Given the description of an element on the screen output the (x, y) to click on. 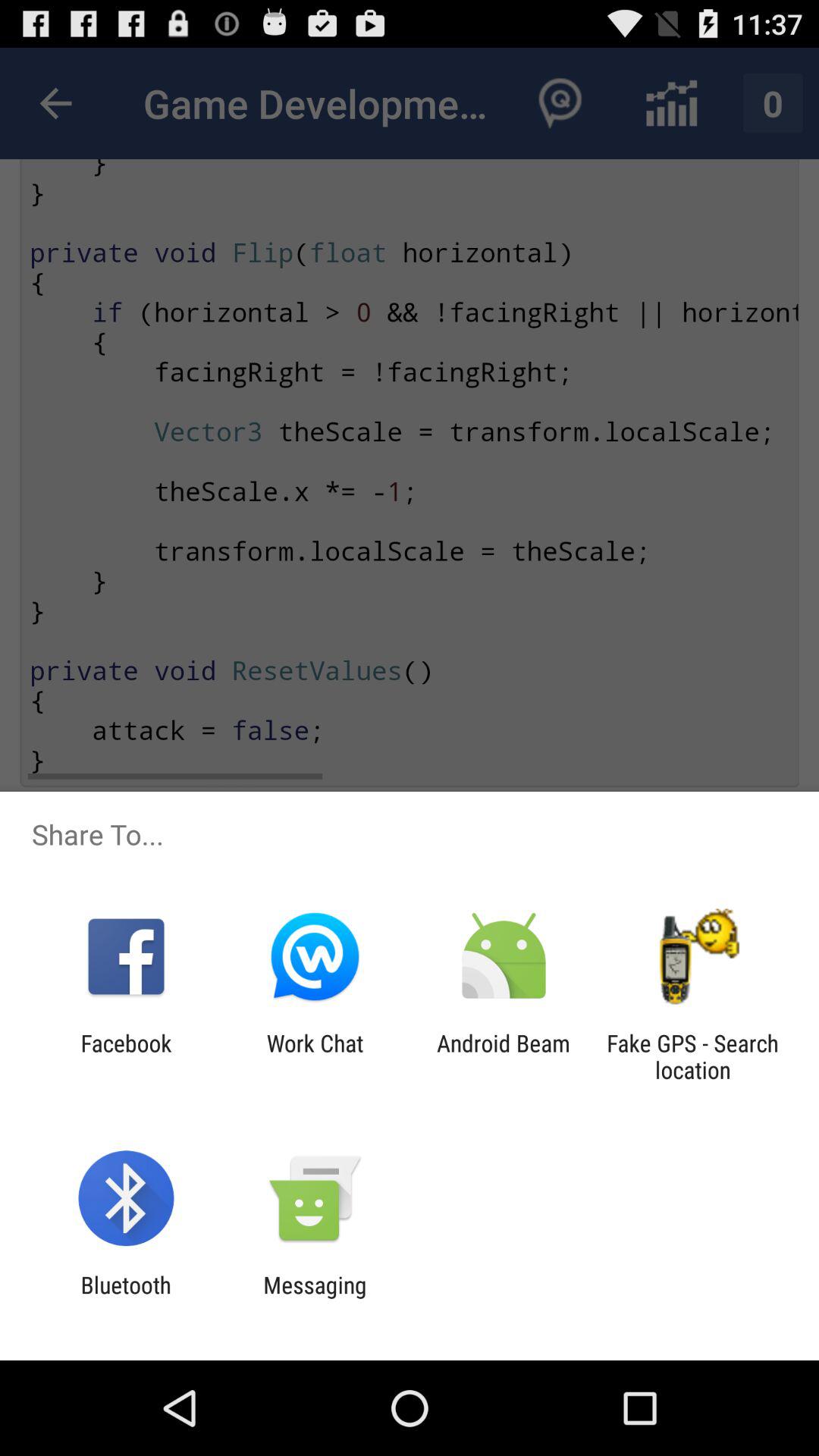
choose the icon to the right of the facebook item (314, 1056)
